Given the description of an element on the screen output the (x, y) to click on. 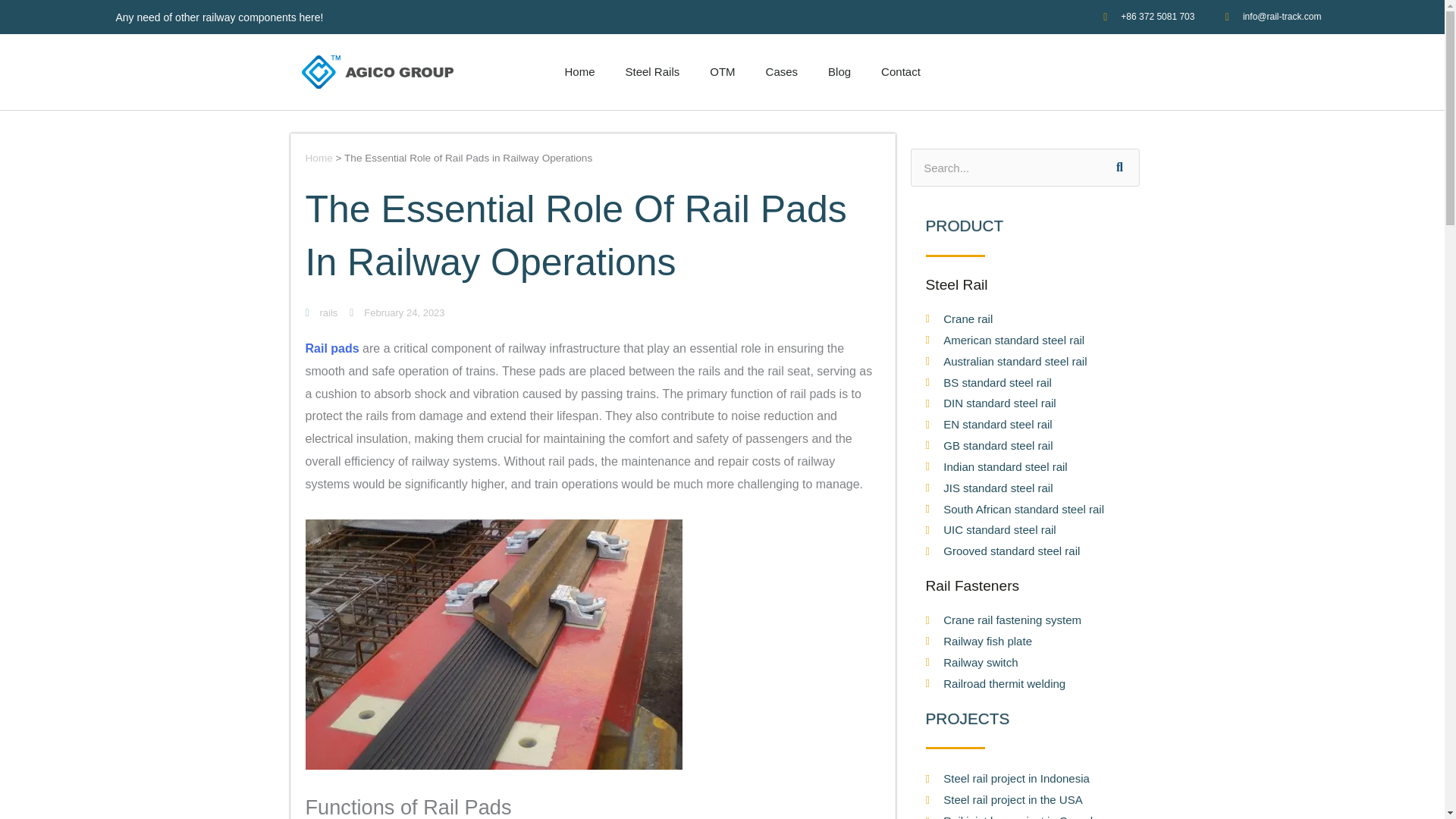
Cases (782, 71)
OTM (721, 71)
Blog (839, 71)
Steel Rails (652, 71)
Contact (901, 71)
Home (579, 71)
Any need of other railway components here! (219, 16)
